Given the description of an element on the screen output the (x, y) to click on. 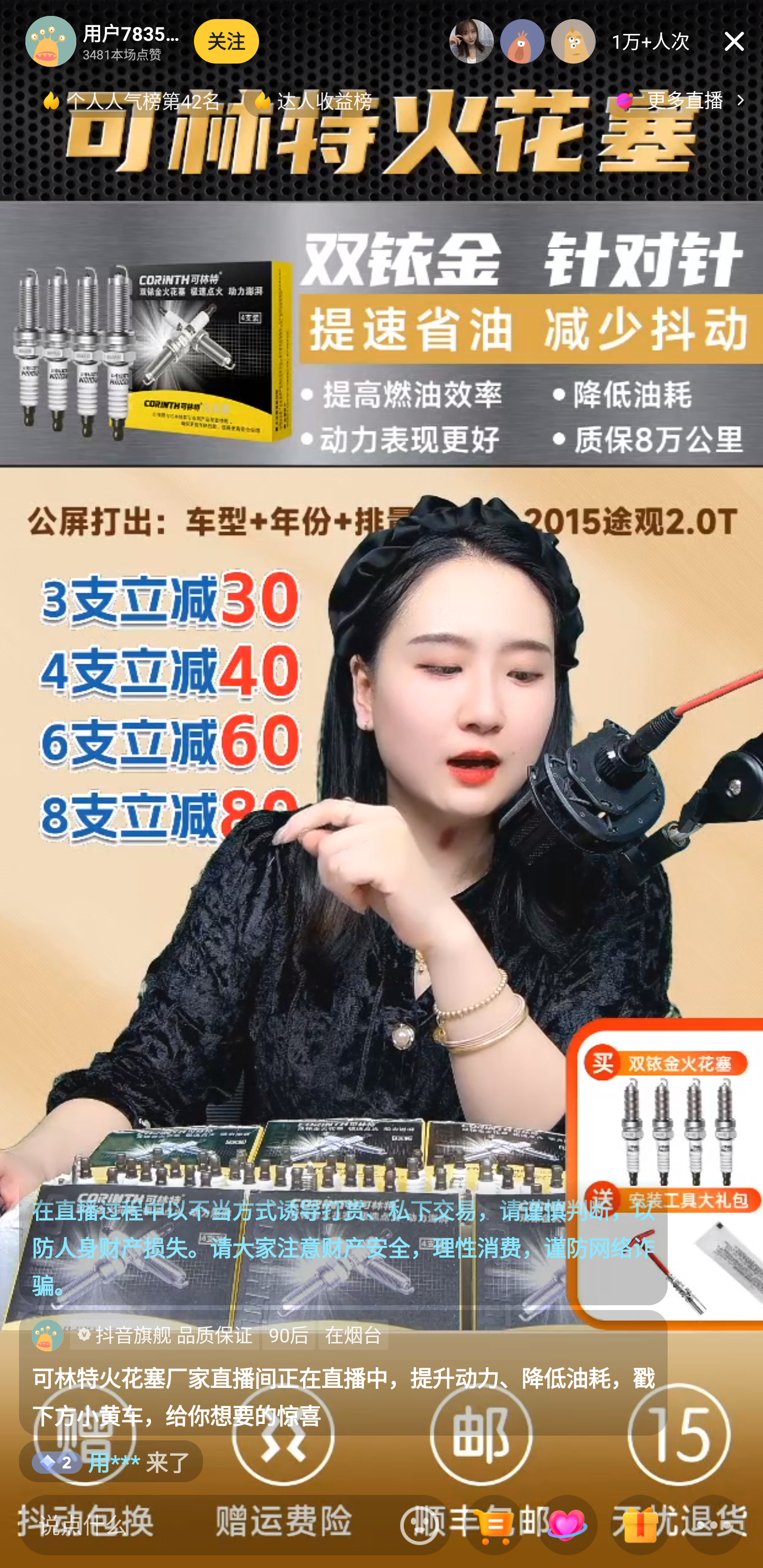
榜一 X*** (471, 41)
榜二 想*** (522, 41)
榜三 朋*** (572, 41)
1万+人次 (650, 41)
关注 (226, 41)
关闭 (733, 41)
个人人气榜第42名，按钮 (133, 100)
达人收益榜，按钮 (314, 100)
更多直播 (682, 100)
* * L*** 来了 (142, 1460)
说点什么 (205, 1524)
表情入口 (419, 1524)
商品列表 (493, 1526)
商品列表 (493, 1526)
小心心 (567, 1526)
礼物 (640, 1526)
更多面板 按钮 (713, 1526)
